Given the description of an element on the screen output the (x, y) to click on. 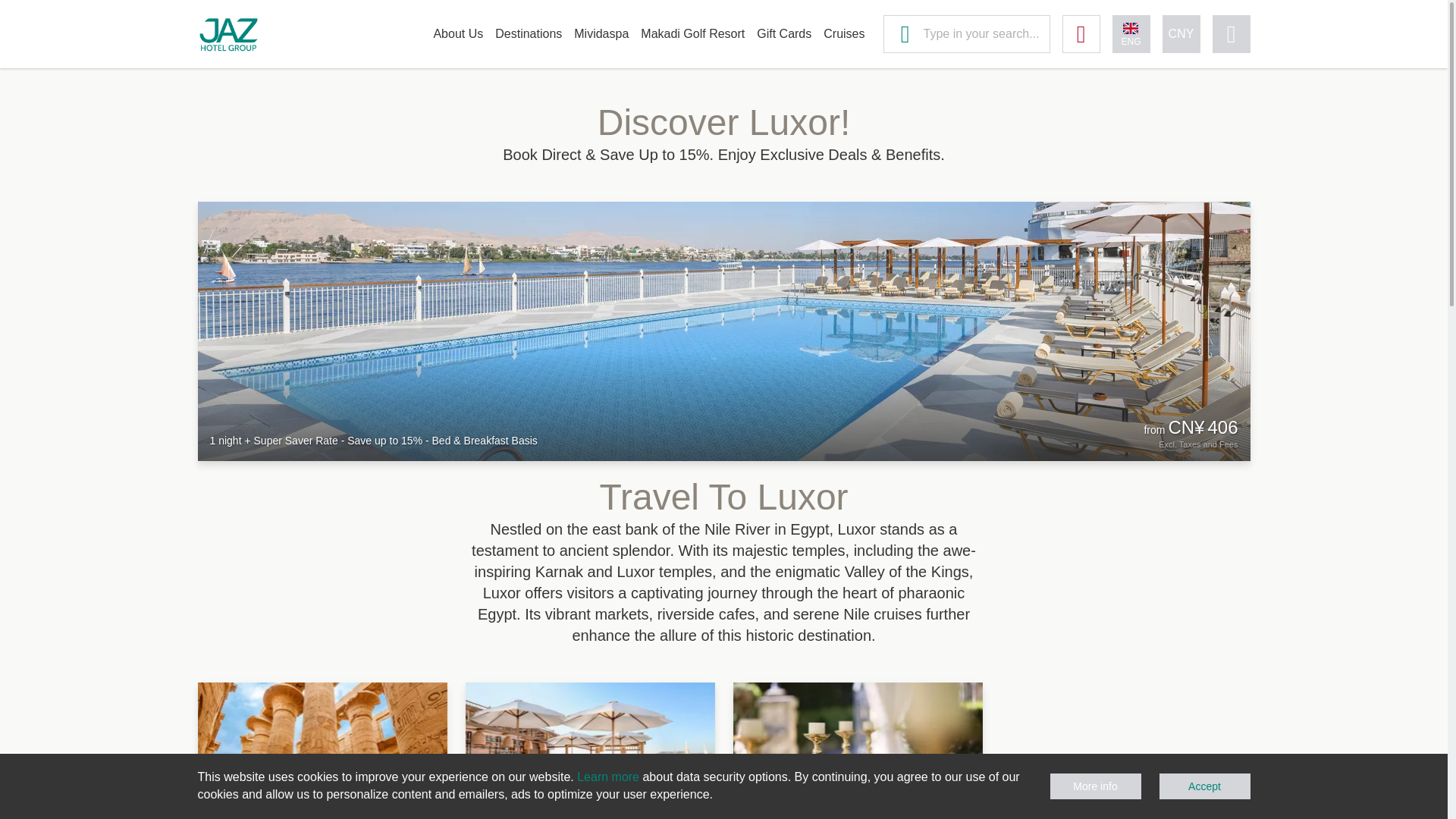
CNY (1180, 34)
Makadi Golf Resort (686, 33)
Cruises (837, 33)
ENG (1131, 34)
Destinations (522, 33)
About Us (451, 33)
English (1131, 34)
China Yuan Renminbi (1180, 34)
Gift Cards (777, 33)
Mividaspa (595, 33)
